Given the description of an element on the screen output the (x, y) to click on. 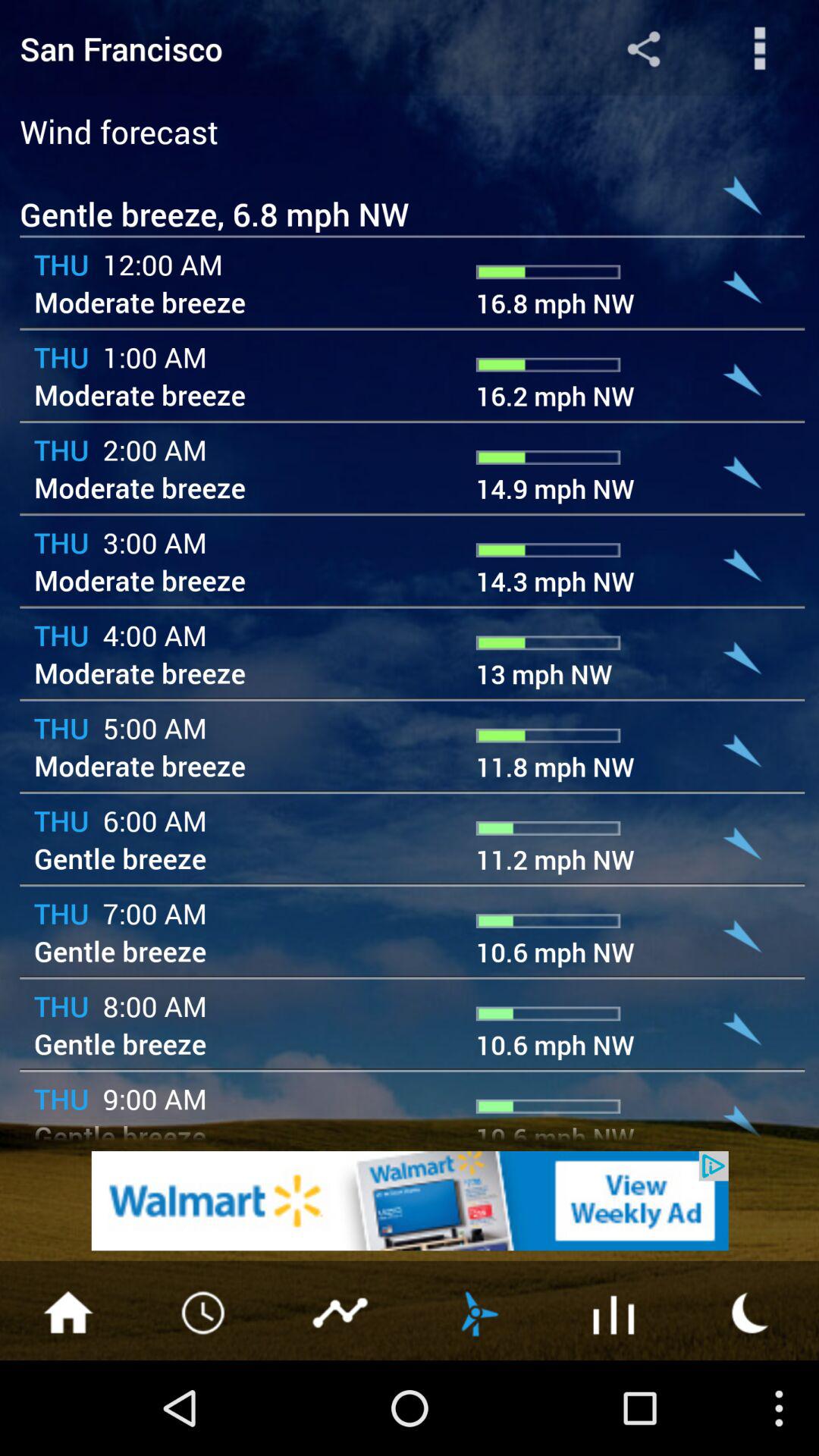
share the articles (759, 48)
